Given the description of an element on the screen output the (x, y) to click on. 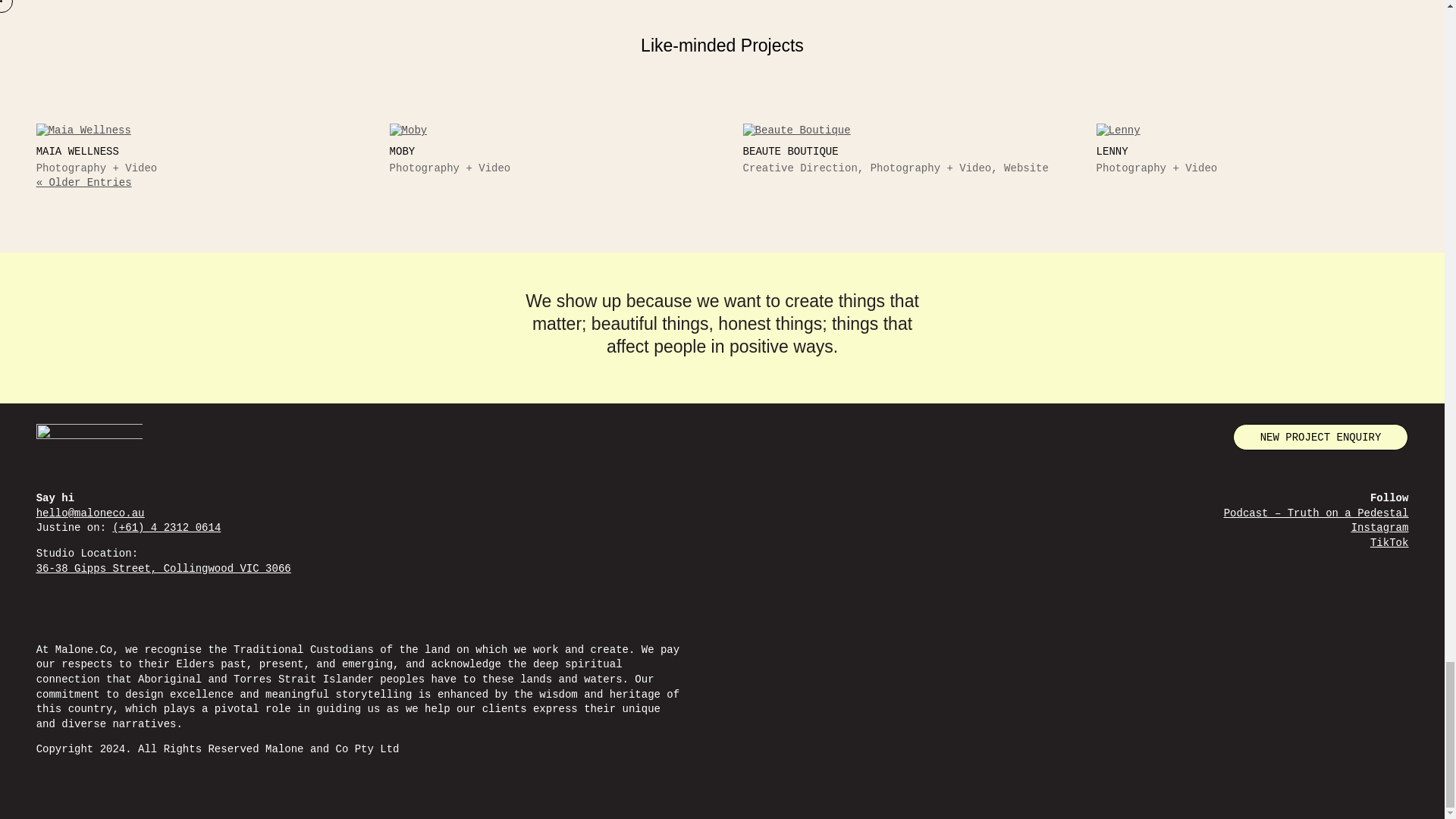
LENNY (1112, 151)
Instagram (1380, 527)
Creative Direction (799, 168)
MAIA WELLNESS (77, 151)
Beaute Boutique (790, 151)
36-38 Gipps Street, Collingwood VIC 3066 (163, 568)
Maia Wellness (77, 151)
MOBY (402, 151)
Maia Wellness (192, 130)
BEAUTE BOUTIQUE (790, 151)
NEW PROJECT ENQUIRY (1321, 437)
Beaute Boutique (898, 130)
Moby (402, 151)
Moby (545, 130)
Website (1026, 168)
